Given the description of an element on the screen output the (x, y) to click on. 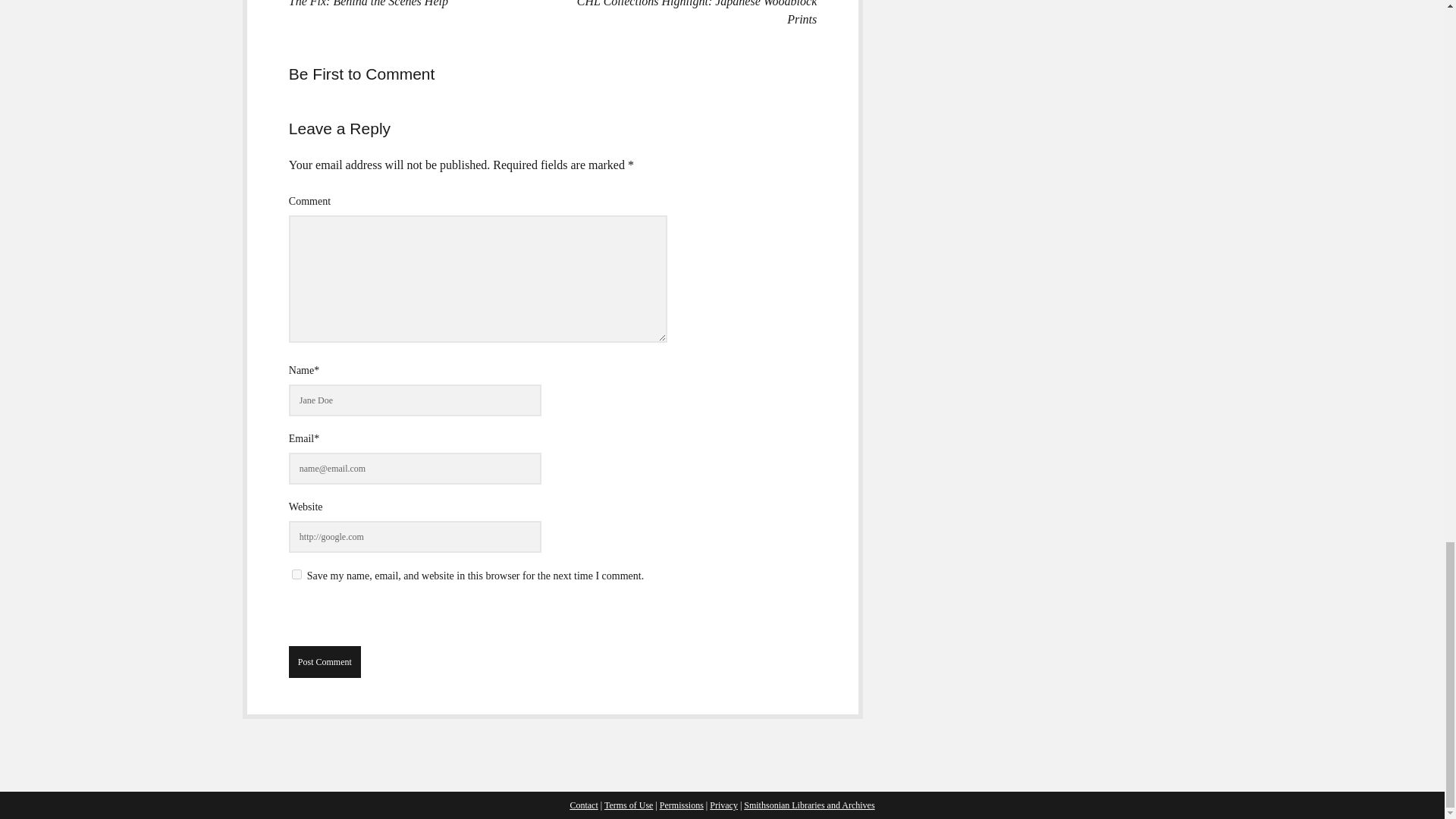
The Fix: Behind the Scenes Help (368, 3)
yes (296, 574)
CHL Collections Highlight: Japanese Woodblock Prints (696, 12)
Post Comment (324, 662)
Post Comment (324, 662)
